Given the description of an element on the screen output the (x, y) to click on. 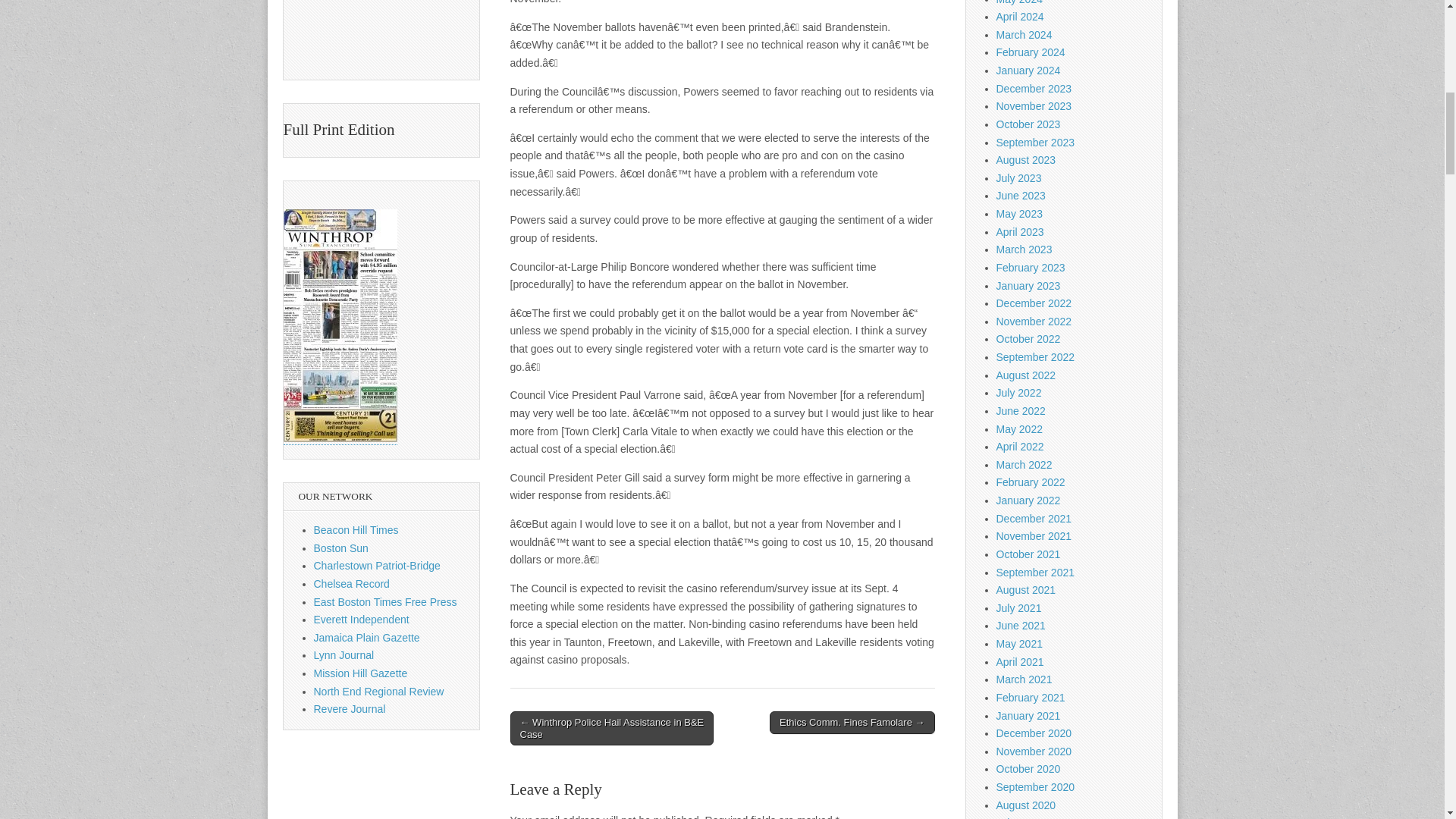
Charlestown Patriot-Bridge (377, 565)
Jamaica Plain Gazette (367, 637)
East Boston Times Free Press (385, 602)
North End Regional Review (379, 691)
Revere Journal (349, 708)
Mission Hill Gazette (360, 673)
Lynn Journal (344, 654)
Boston Sun (341, 548)
Beacon Hill Times (356, 530)
Everett Independent (361, 619)
Chelsea Record (352, 583)
